Given the description of an element on the screen output the (x, y) to click on. 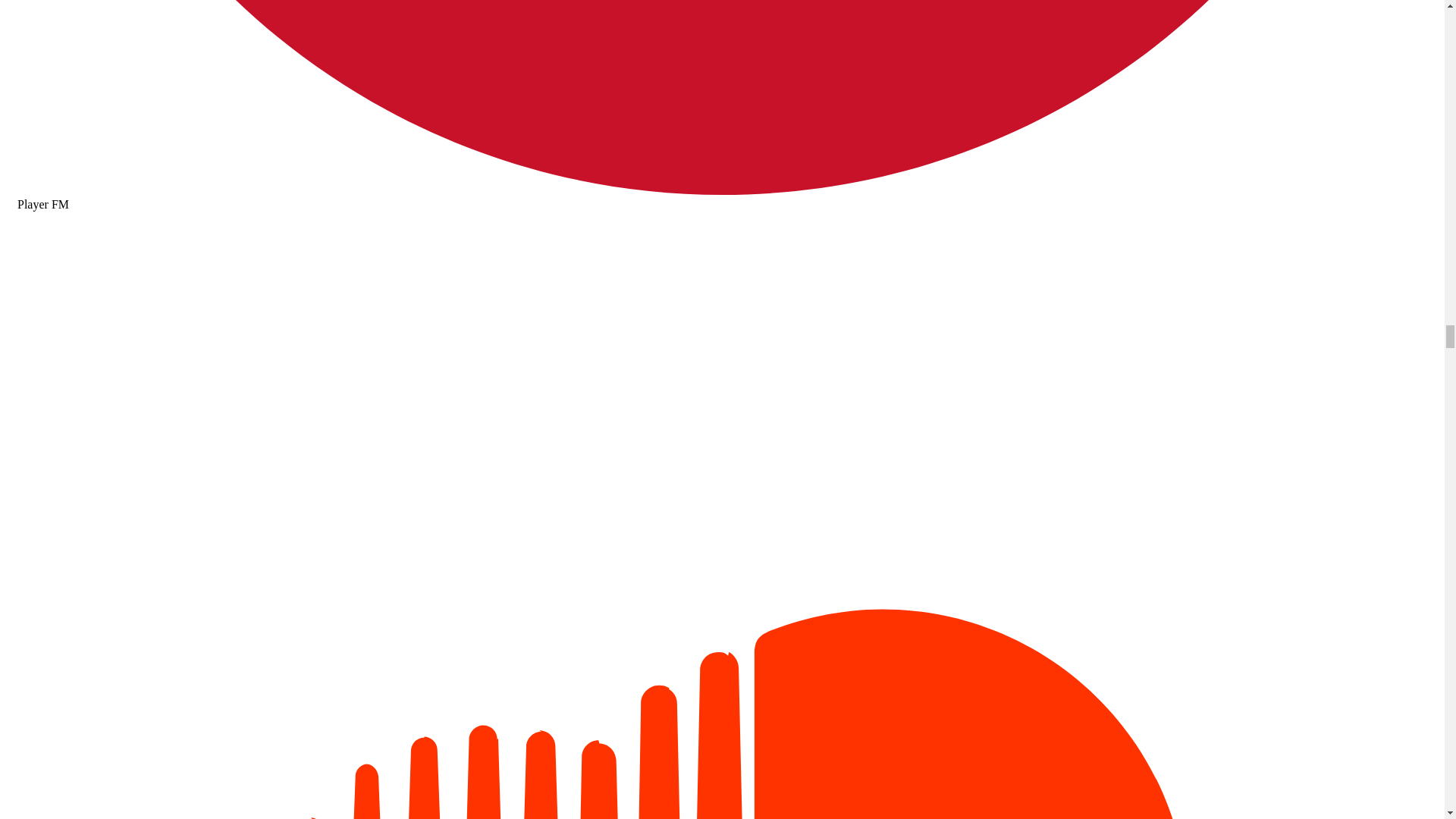
Player FM (721, 197)
